Given the description of an element on the screen output the (x, y) to click on. 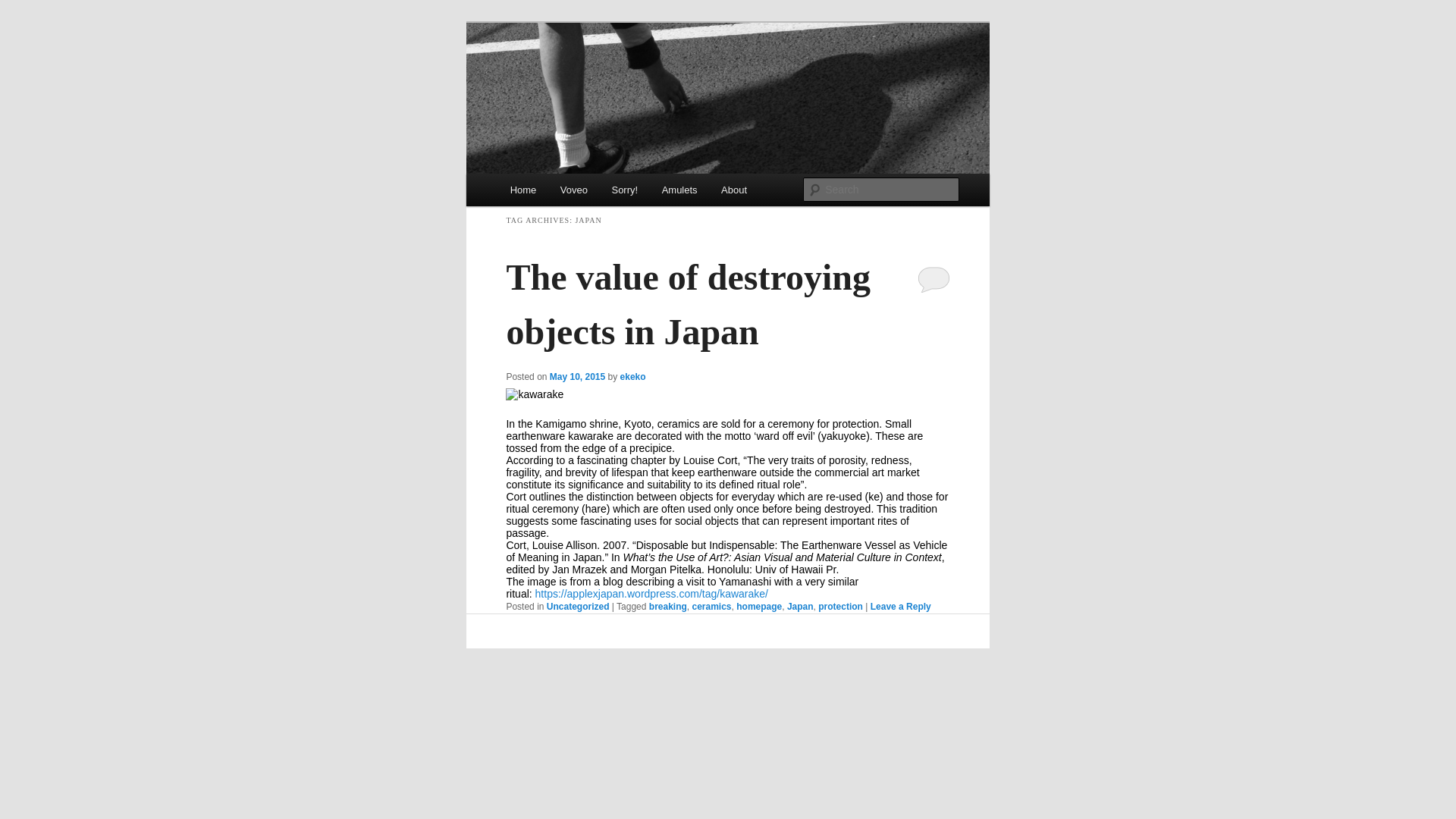
Joyaviva (548, 180)
Sorry! (624, 189)
View all posts by ekeko (633, 376)
Search (22, 8)
4:59 am (577, 376)
Joyaviva (548, 180)
Amulets (679, 189)
Voveo (573, 189)
Home (522, 189)
